Given the description of an element on the screen output the (x, y) to click on. 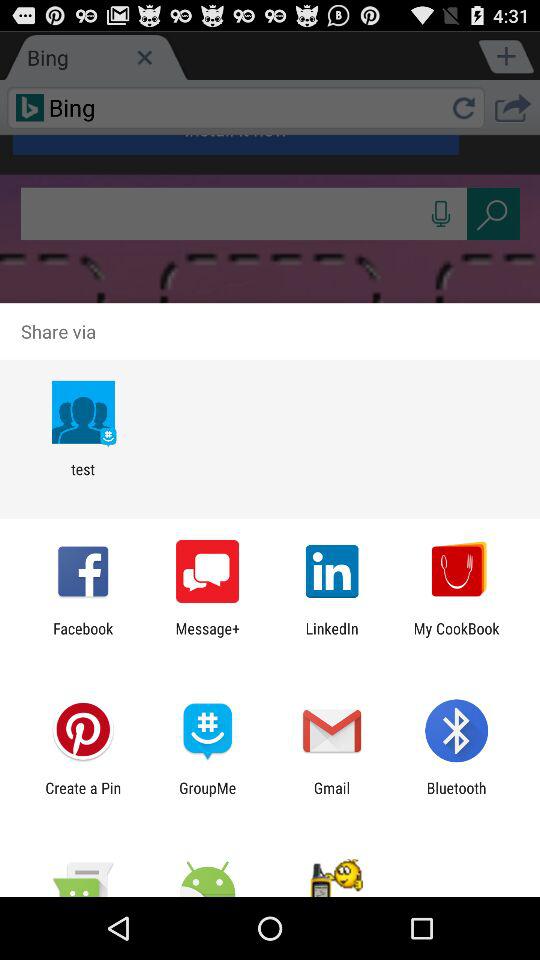
choose the app to the right of the groupme icon (331, 796)
